Given the description of an element on the screen output the (x, y) to click on. 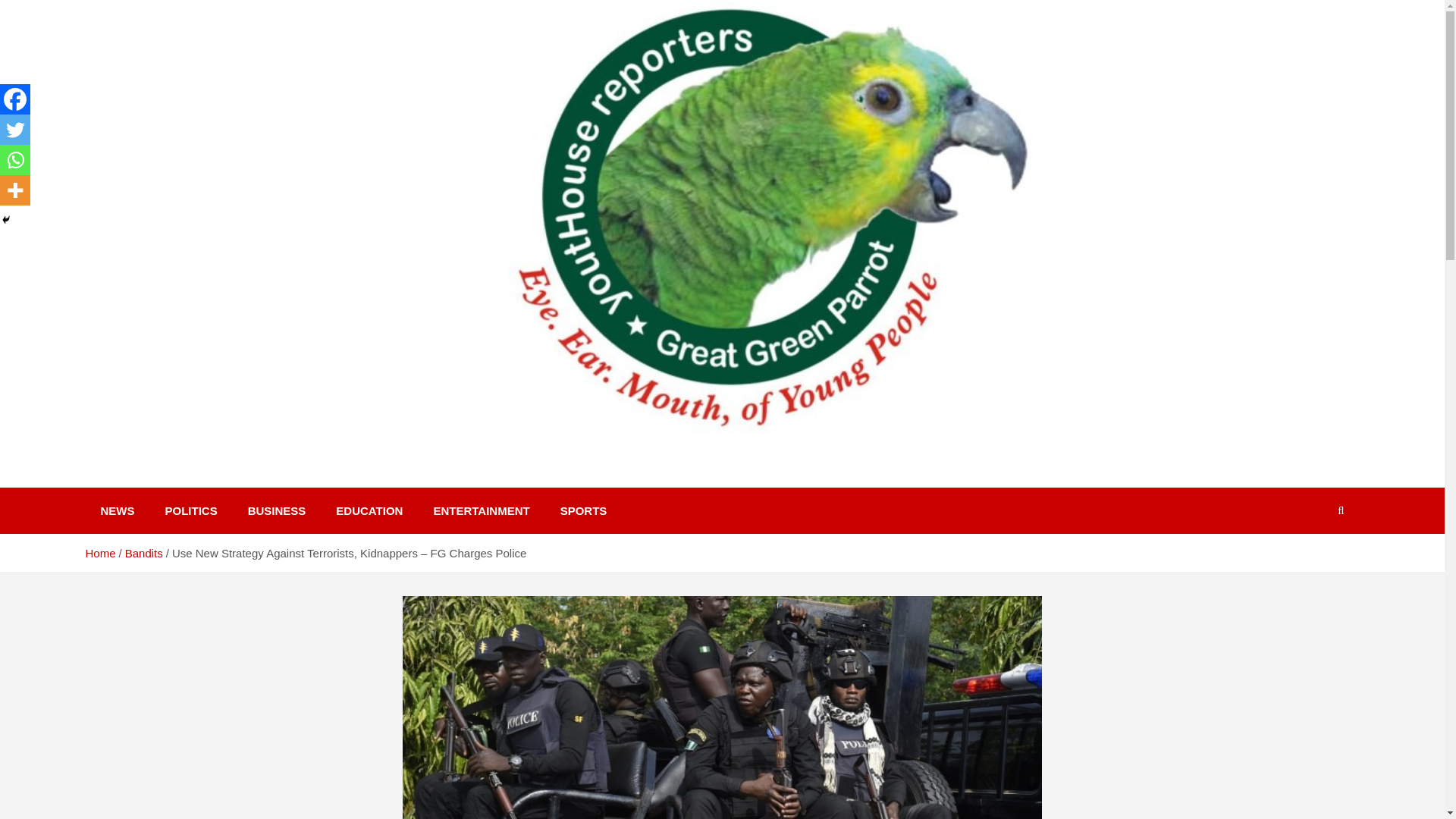
SPORTS (583, 510)
Facebook (15, 99)
POLITICS (190, 510)
NEWS (116, 510)
Home (99, 553)
EDUCATION (368, 510)
ENTERTAINMENT (480, 510)
Hide (5, 219)
youtHouse reporters (233, 480)
Bandits (144, 553)
Whatsapp (15, 159)
Twitter (15, 129)
More (15, 190)
BUSINESS (276, 510)
